Given the description of an element on the screen output the (x, y) to click on. 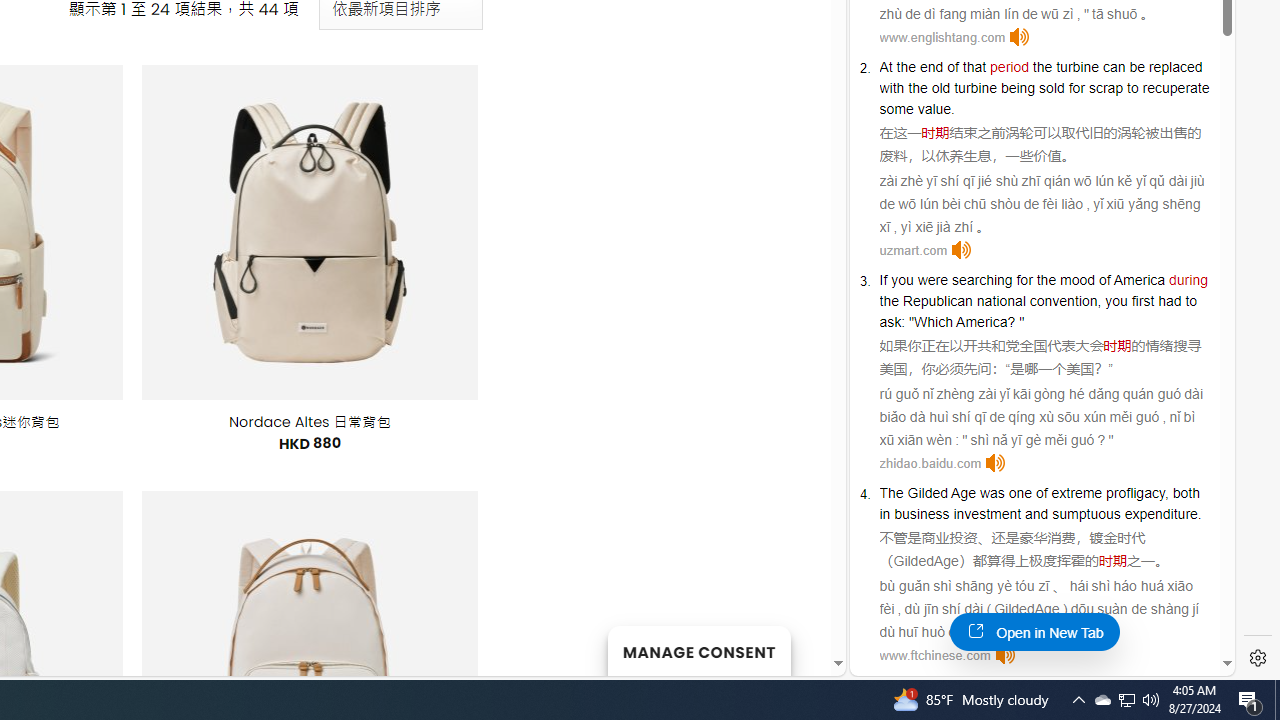
www.ftchinese.com (934, 655)
